Given the description of an element on the screen output the (x, y) to click on. 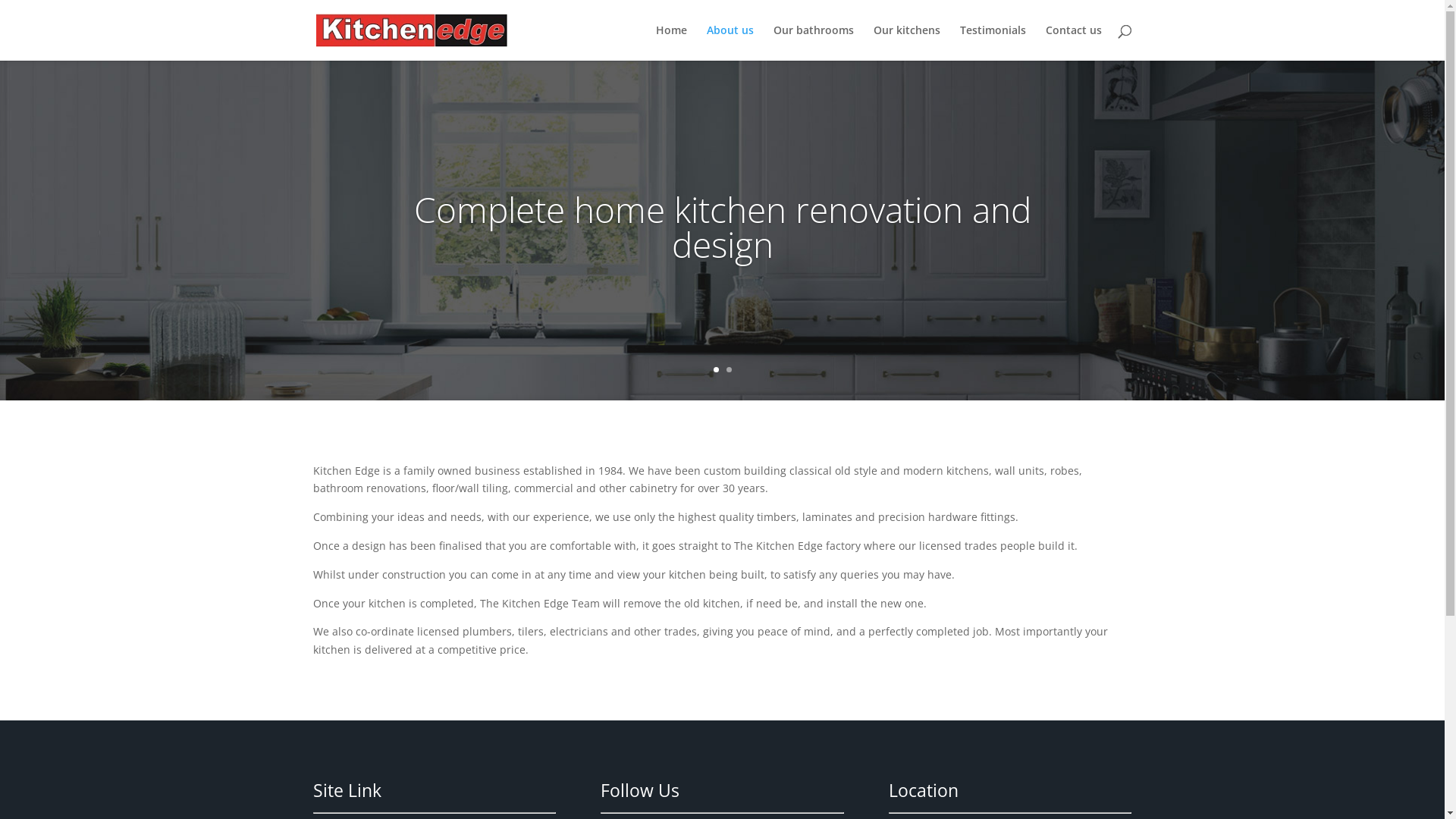
Contact us Element type: text (1072, 42)
2 Element type: text (728, 369)
Our bathrooms Element type: text (813, 42)
Testimonials Element type: text (993, 42)
Home Element type: text (670, 42)
About us Element type: text (729, 42)
1 Element type: text (715, 369)
Our kitchens Element type: text (906, 42)
